Given the description of an element on the screen output the (x, y) to click on. 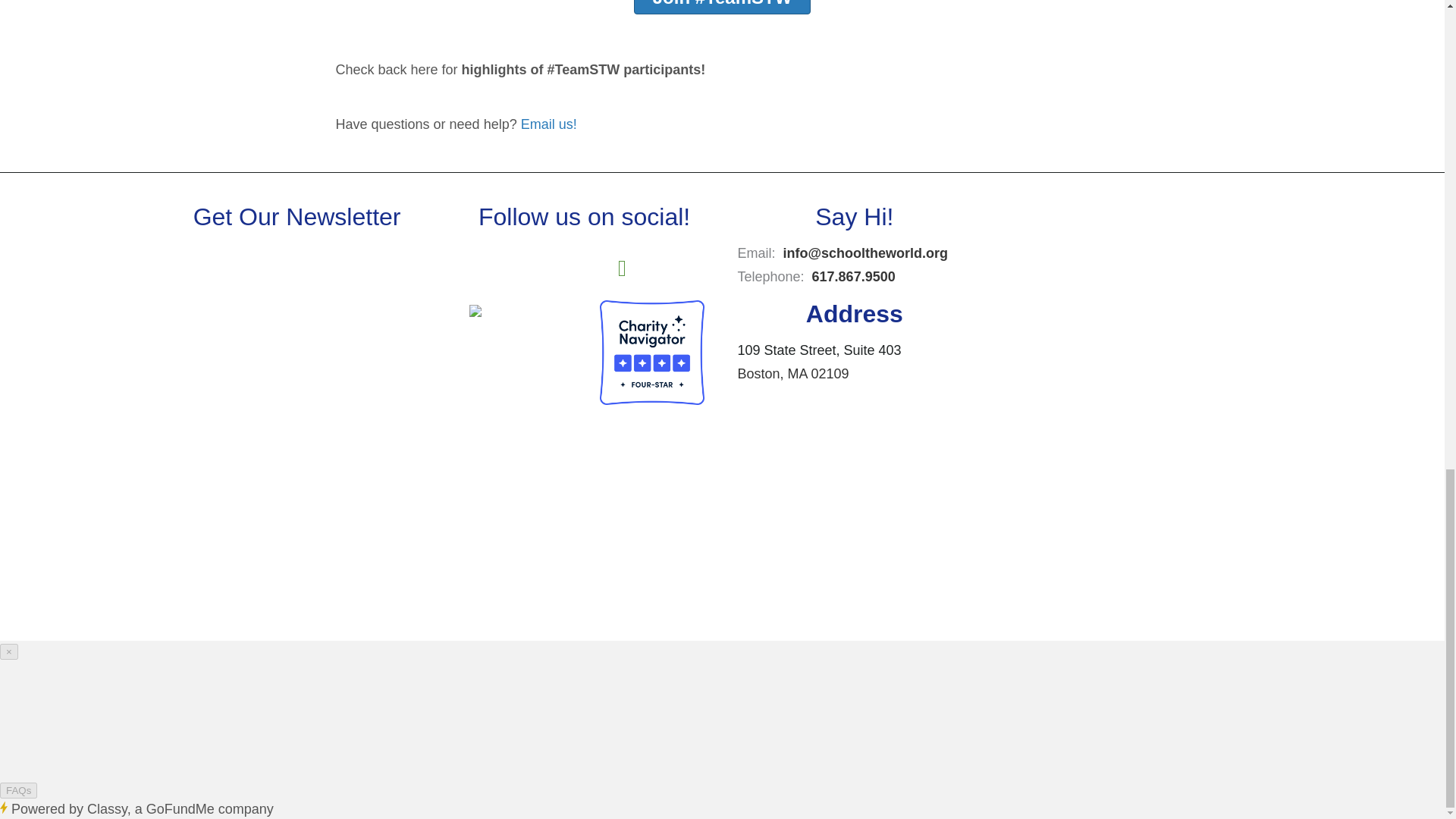
Four-Star Rating Badge - Full Color (651, 352)
